Given the description of an element on the screen output the (x, y) to click on. 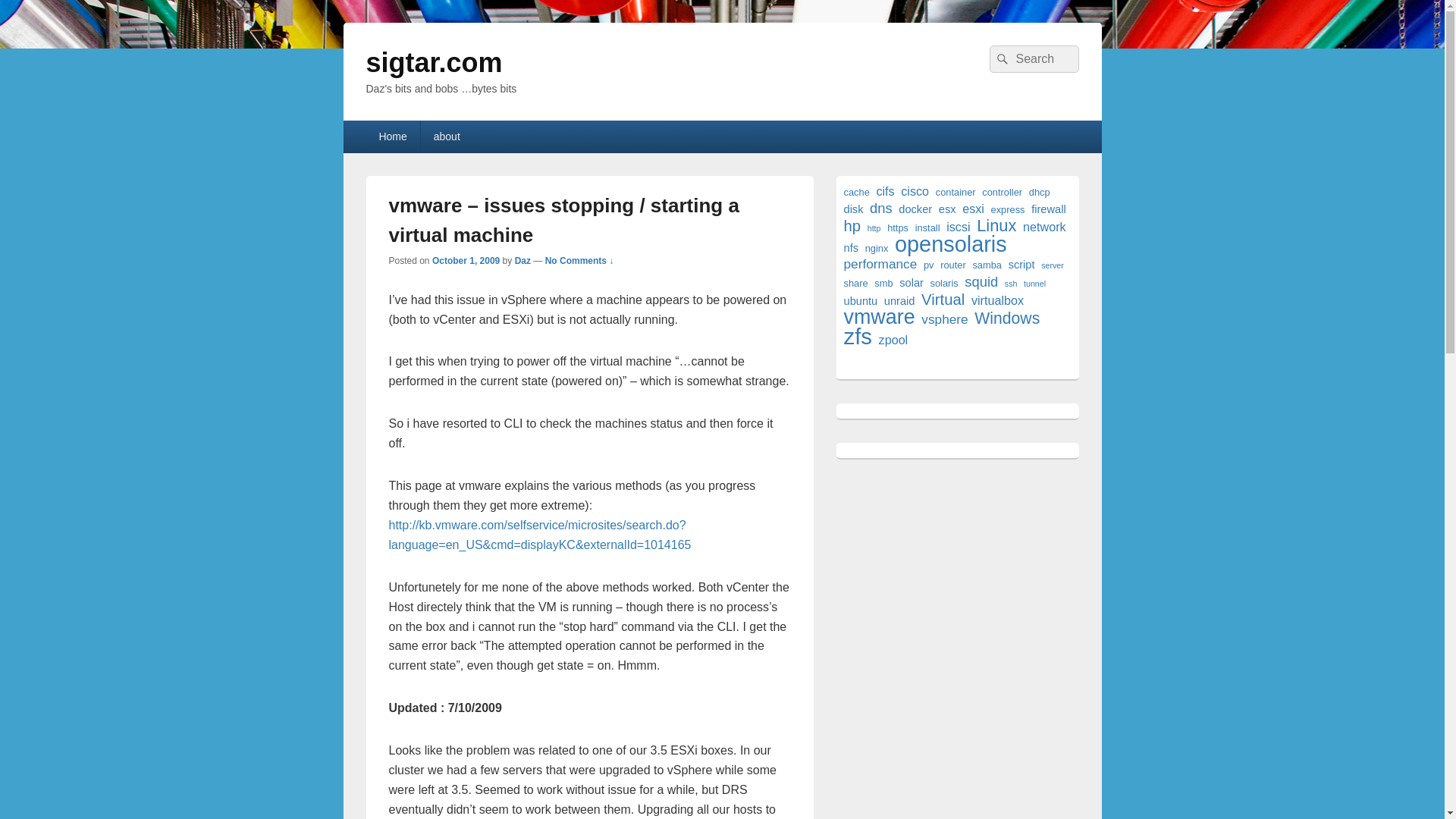
Home (392, 136)
controller (1001, 191)
disk (853, 209)
https (897, 227)
esx (947, 209)
install (927, 227)
cifs (884, 191)
cache (856, 191)
esxi (973, 208)
View all posts by Daz (523, 260)
